Given the description of an element on the screen output the (x, y) to click on. 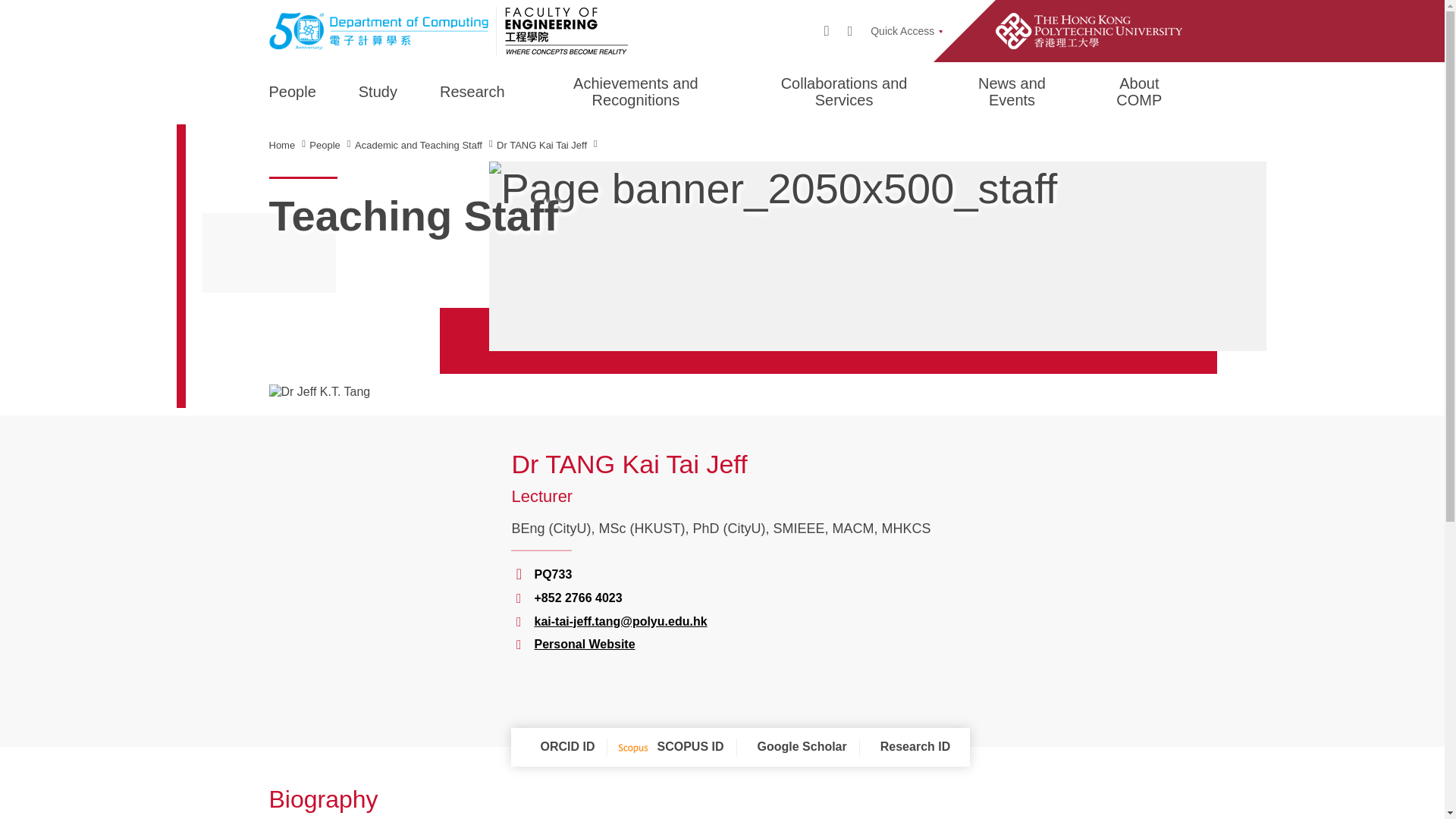
Quick Access (906, 30)
